Given the description of an element on the screen output the (x, y) to click on. 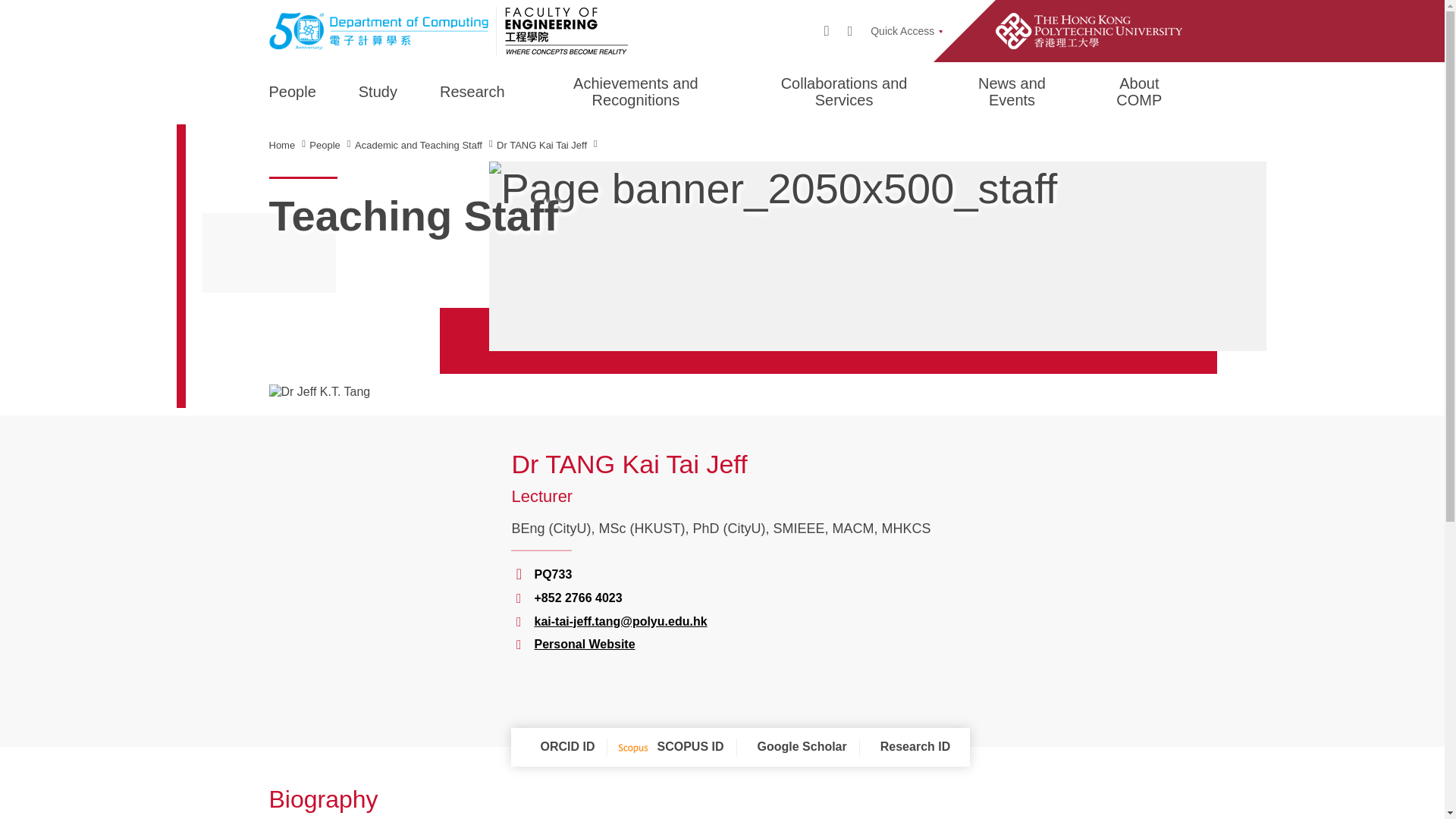
Quick Access (906, 30)
